Given the description of an element on the screen output the (x, y) to click on. 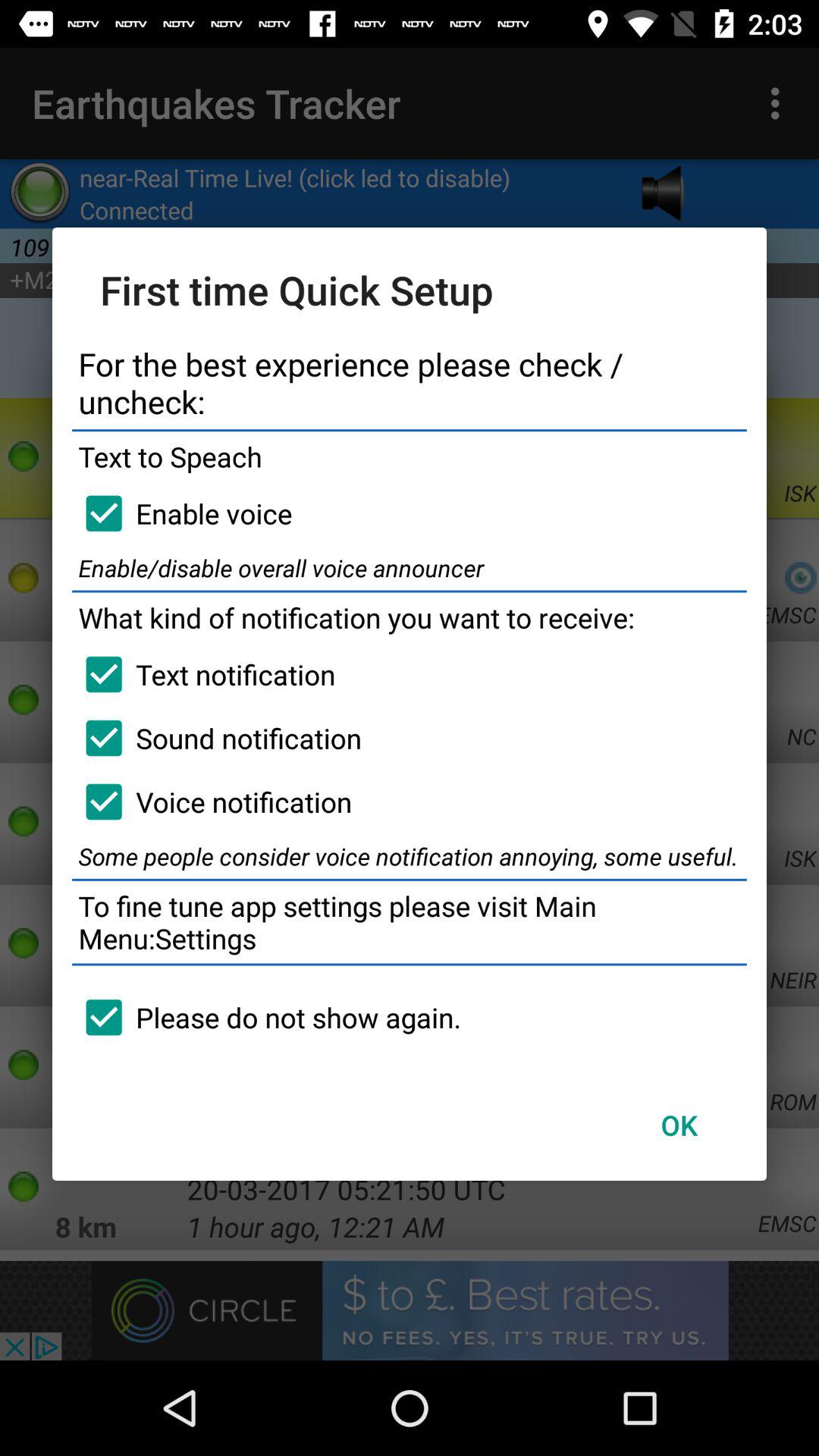
open please do not icon (266, 1017)
